Given the description of an element on the screen output the (x, y) to click on. 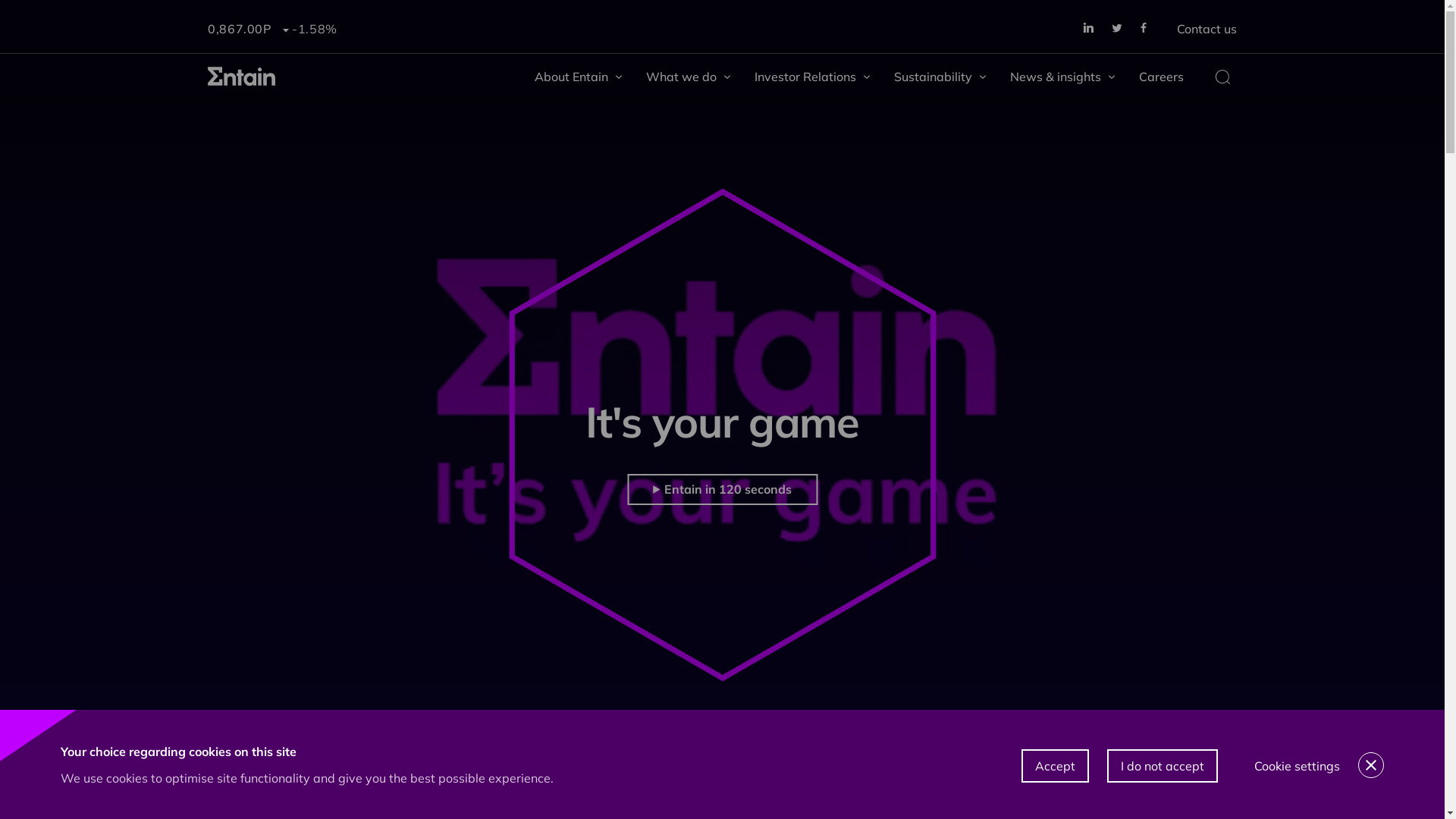
About Entain Element type: text (577, 77)
facebook Element type: text (1143, 28)
linkedin Element type: text (1087, 28)
I do not accept Element type: text (1162, 765)
Sustainability Element type: text (939, 77)
Go to homepage Element type: text (241, 76)
Entain in 120 seconds Element type: text (722, 489)
Open popup Element type: text (1222, 76)
Accept Element type: text (1054, 765)
What we do Element type: text (688, 77)
Careers Element type: text (1161, 77)
News & insights Element type: text (1062, 77)
twitter Element type: text (1116, 28)
Contact us Element type: text (1206, 29)
Investor Relations Element type: text (811, 77)
Cookie settings Element type: text (1297, 765)
